Given the description of an element on the screen output the (x, y) to click on. 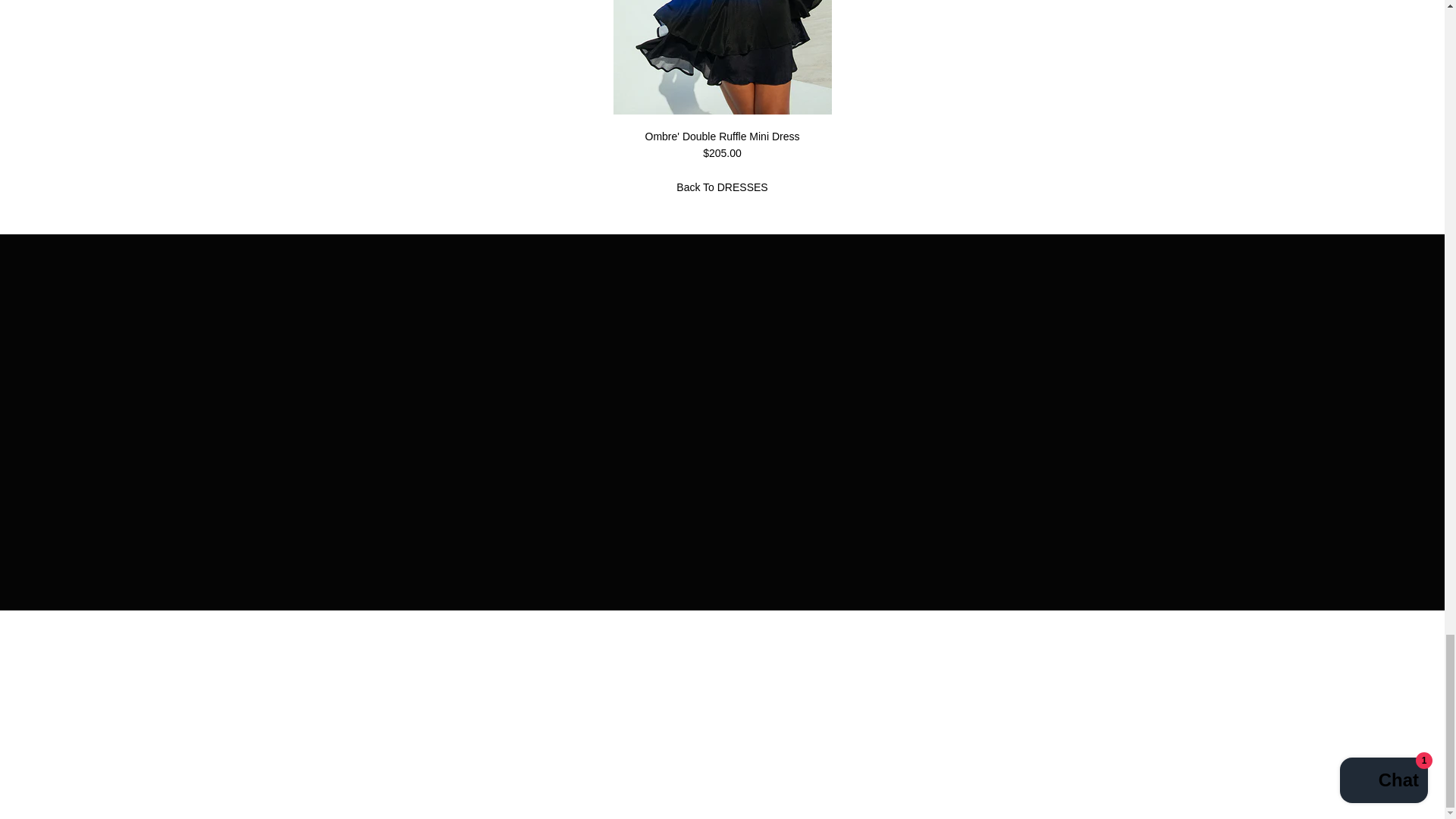
Ombre' Double Ruffle Mini Dress (721, 110)
